Given the description of an element on the screen output the (x, y) to click on. 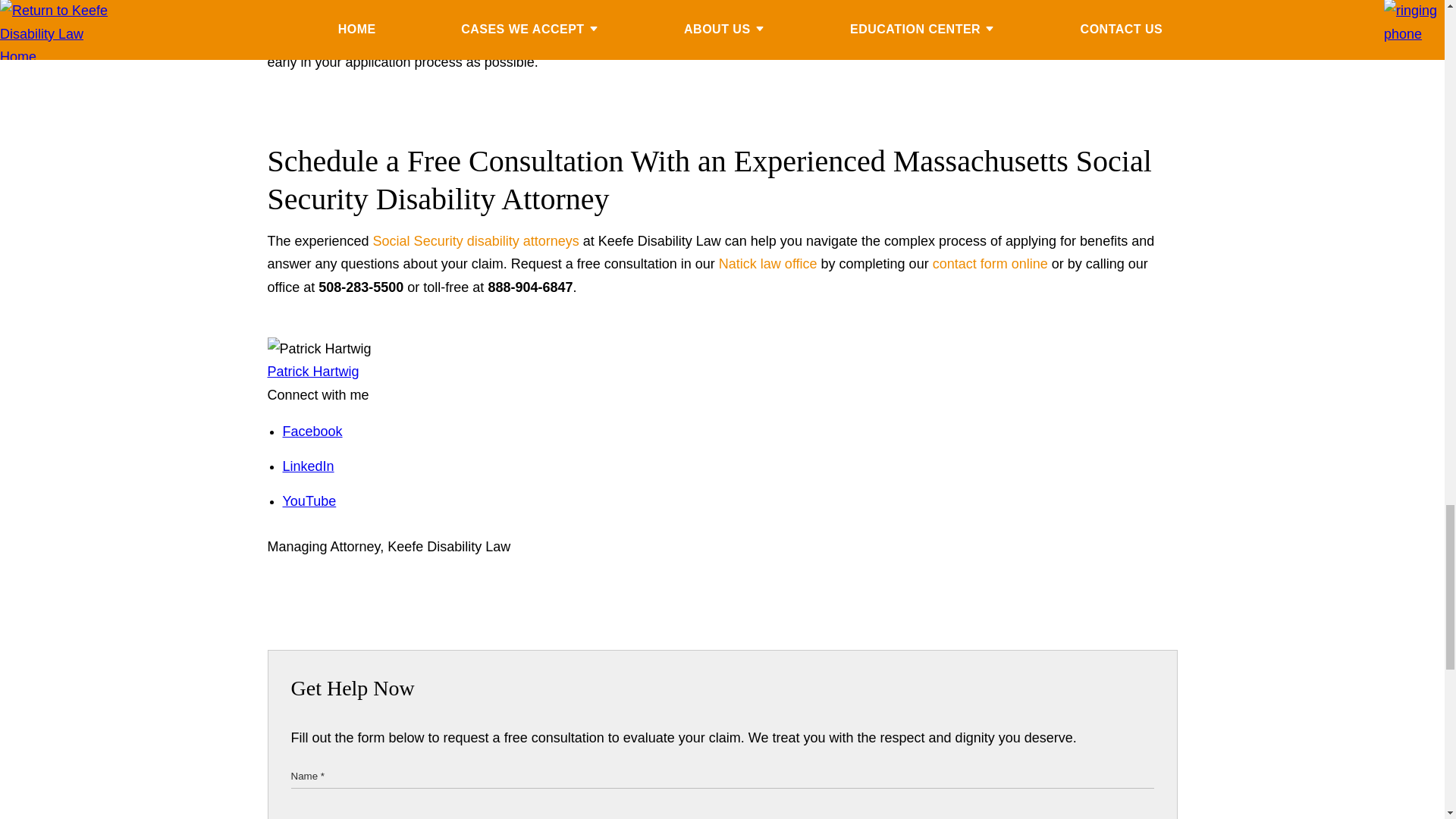
common mistakes in appealing an SSDI (721, 27)
Patrick Hartwig (312, 371)
contact form online (990, 263)
Facebook (312, 431)
Natick law office (767, 263)
LinkedIn (307, 466)
 Social Security disability attorneys (474, 240)
Watch me on YouTube (309, 500)
Connect with me on LinkedIn (307, 466)
Find me on Facebook (312, 431)
